Given the description of an element on the screen output the (x, y) to click on. 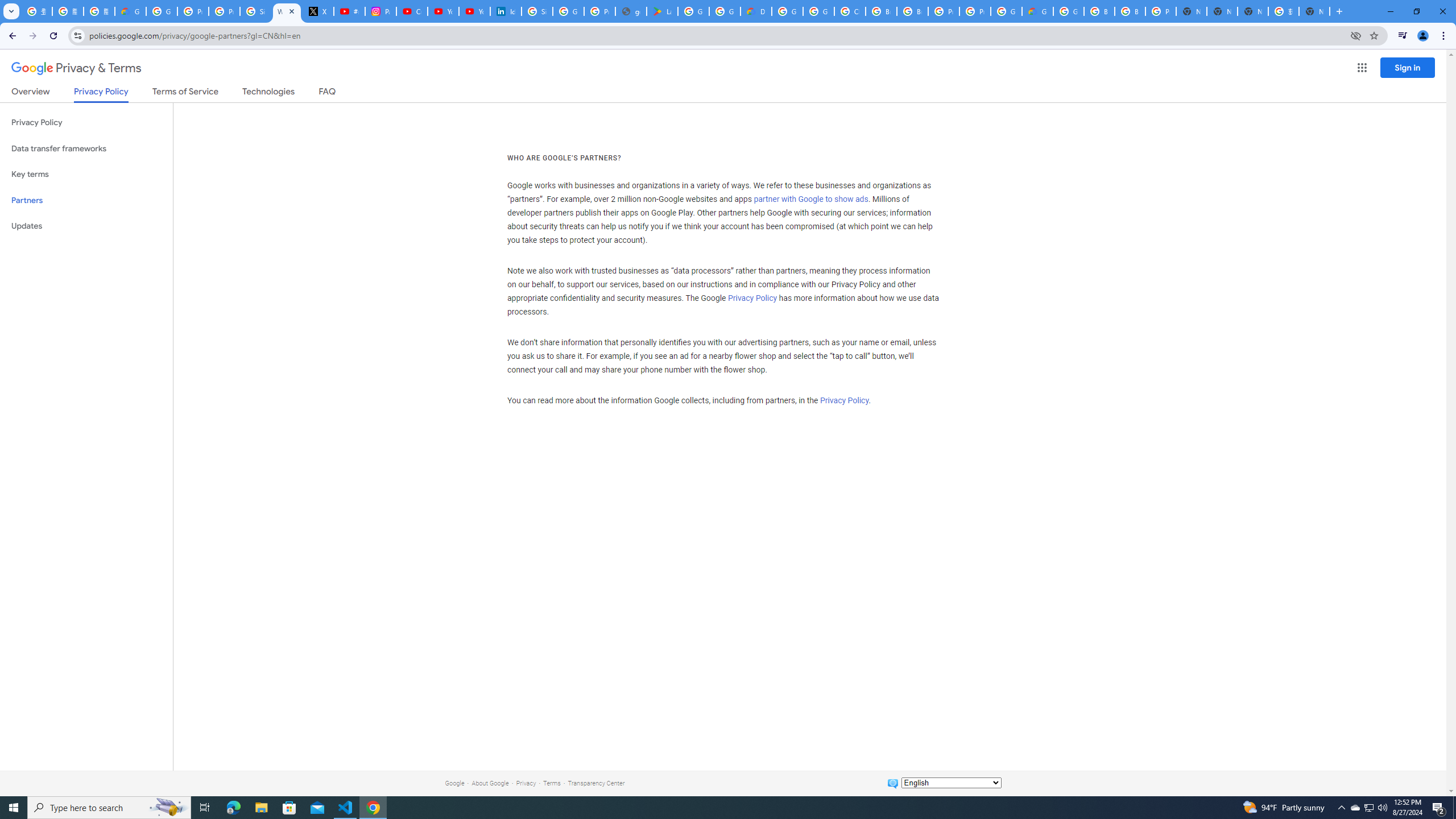
Last Shelter: Survival - Apps on Google Play (662, 11)
Google Cloud Privacy Notice (130, 11)
Change language: (951, 782)
New Tab (1314, 11)
YouTube Culture & Trends - YouTube Top 10, 2021 (474, 11)
Google Cloud Platform (787, 11)
About Google (490, 783)
